Given the description of an element on the screen output the (x, y) to click on. 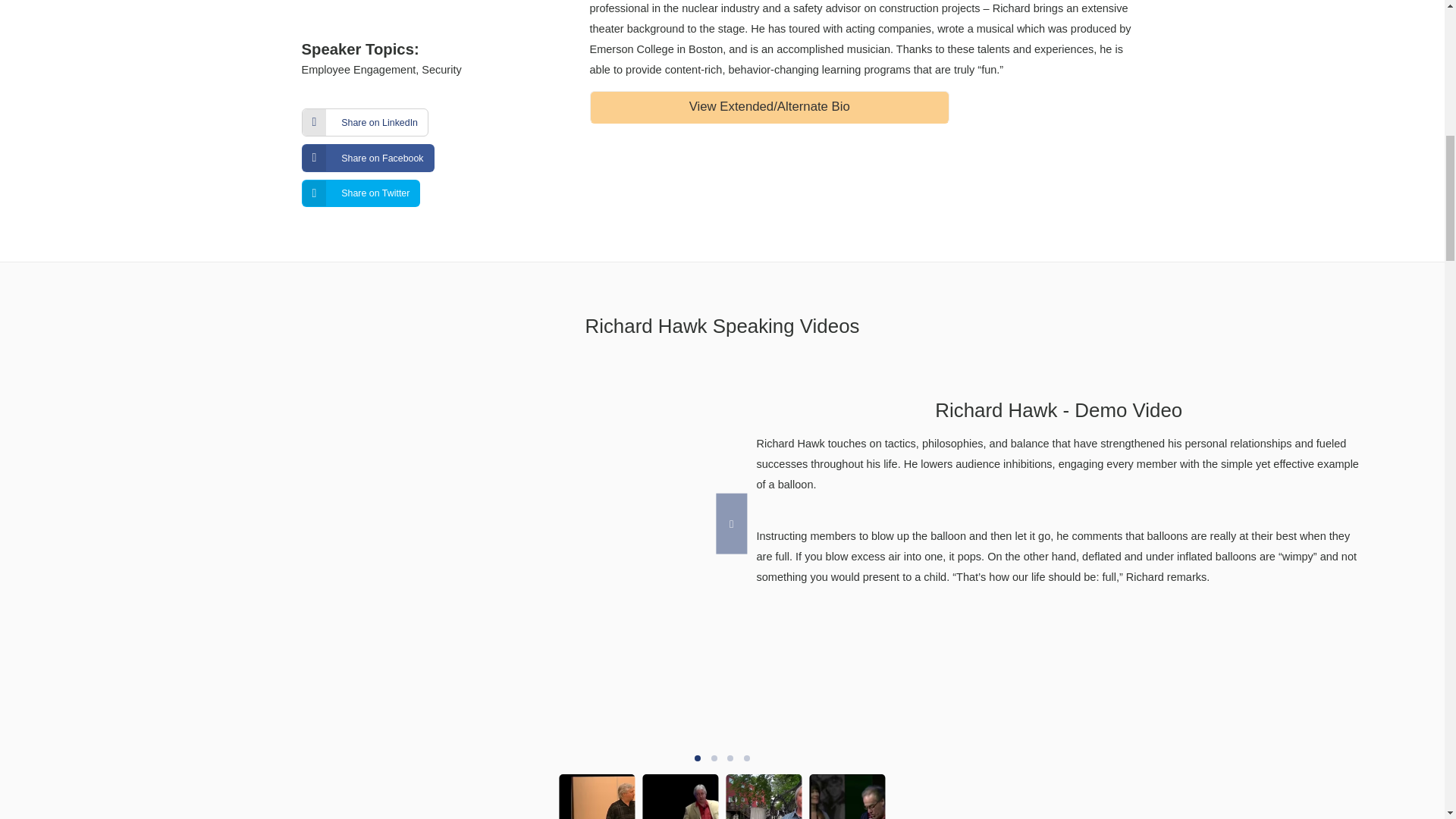
Share on Twitter (360, 193)
Security (441, 69)
Share on LinkedIn (365, 122)
Share on Facebook (367, 157)
Employee Engagement (358, 69)
